Given the description of an element on the screen output the (x, y) to click on. 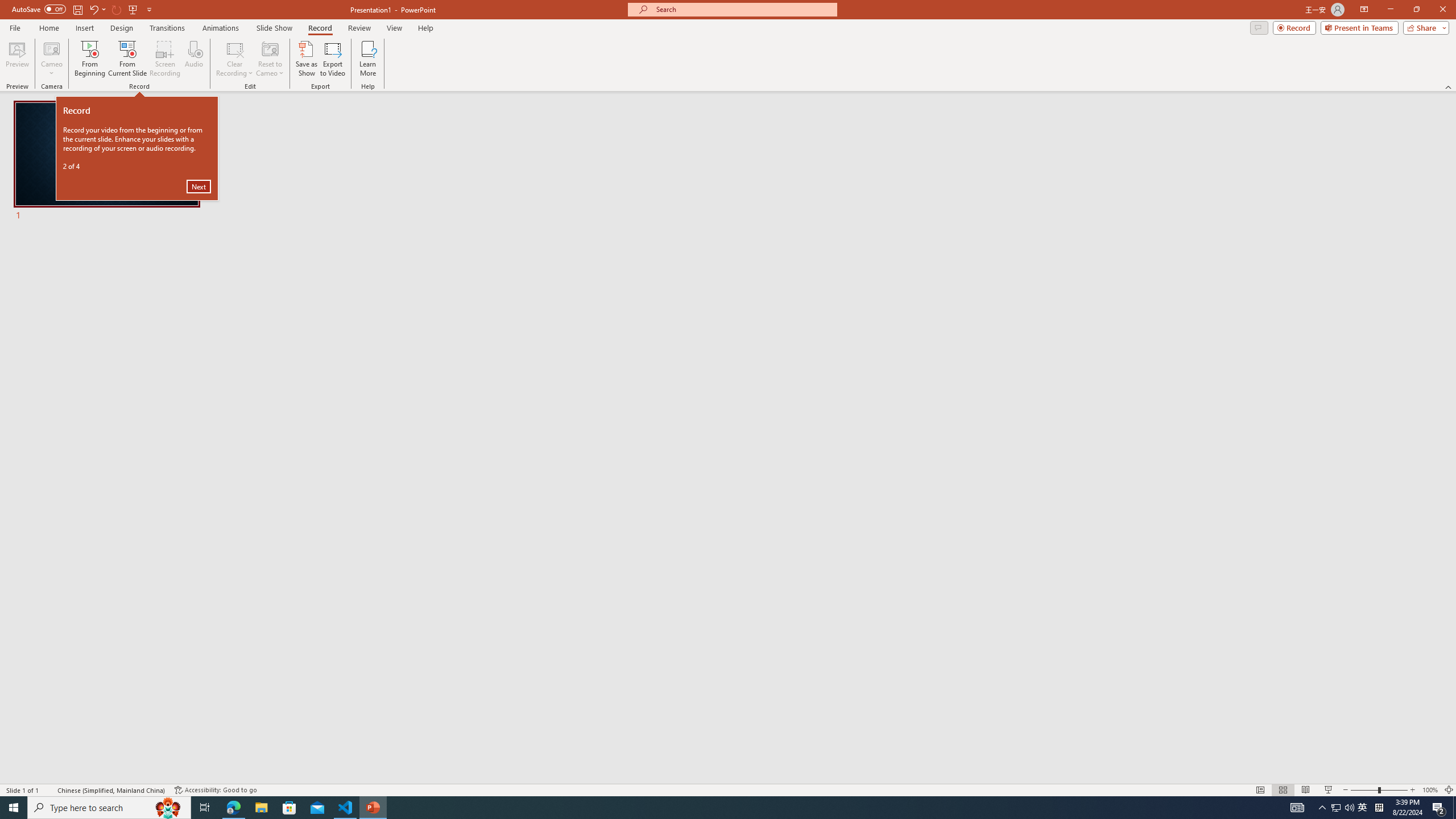
Share (1423, 27)
View (395, 28)
Present in Teams (1359, 27)
Preview (17, 58)
Zoom to Fit  (1449, 790)
Show desktop (1454, 807)
Close (1442, 9)
Q2790: 100% (1349, 807)
Action Center, 2 new notifications (1439, 807)
Zoom (1379, 790)
Restore Down (1362, 807)
Zoom 100% (1416, 9)
